Given the description of an element on the screen output the (x, y) to click on. 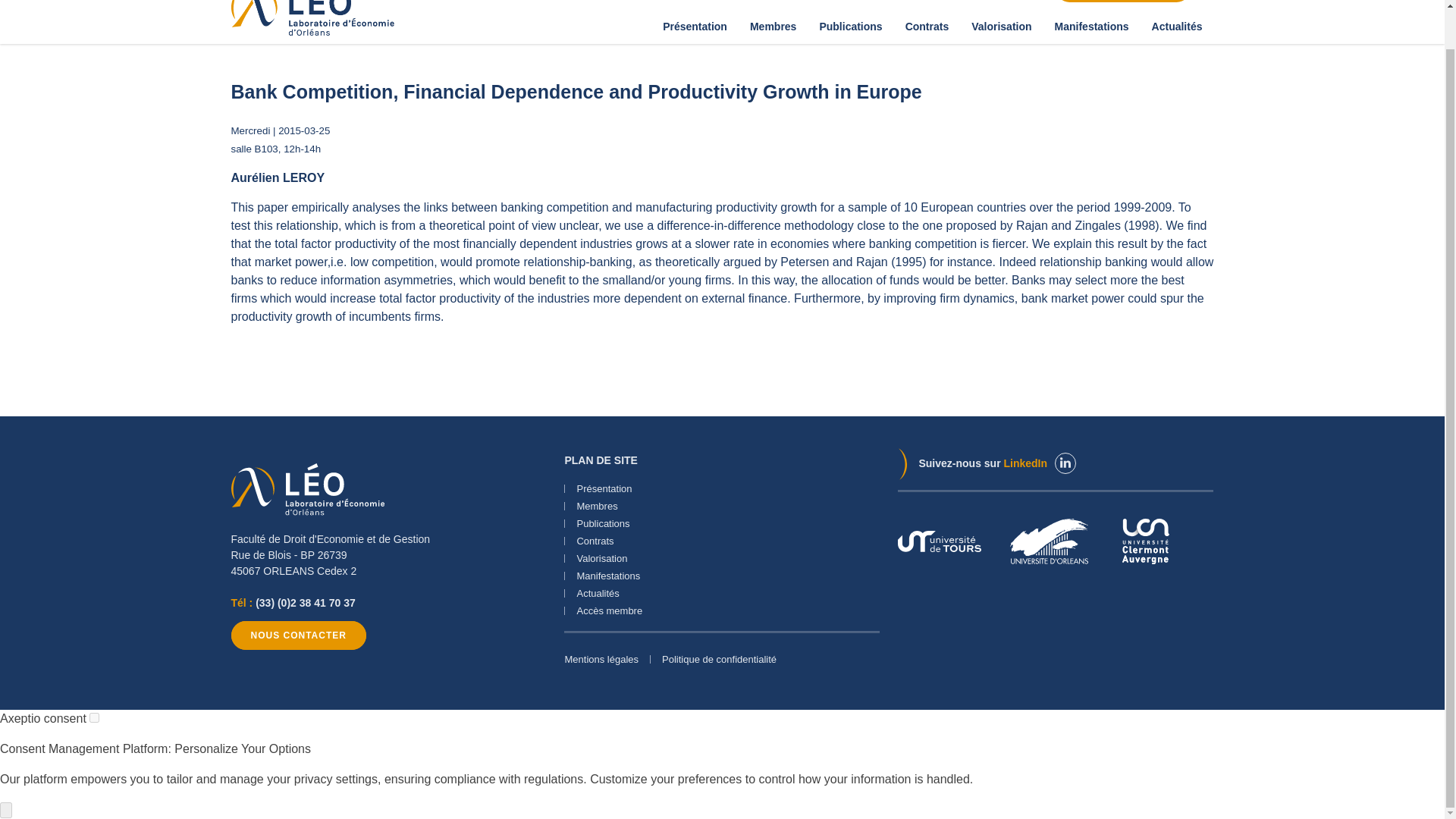
Valorisation (1000, 26)
Contrats (926, 26)
Manifestations (1091, 26)
Publications (850, 26)
Membres (773, 26)
